Given the description of an element on the screen output the (x, y) to click on. 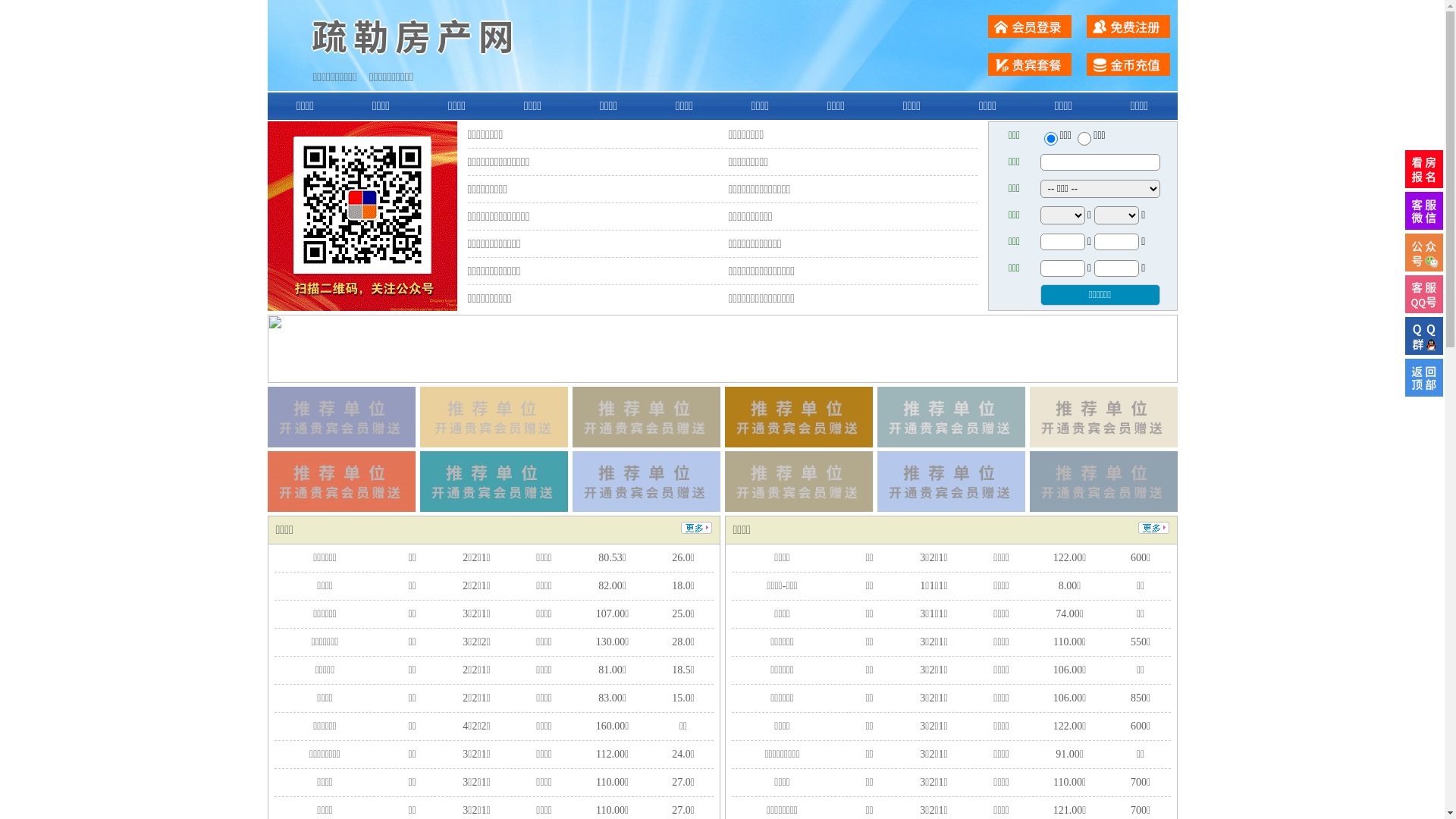
chuzu Element type: text (1084, 138)
ershou Element type: text (1050, 138)
